Given the description of an element on the screen output the (x, y) to click on. 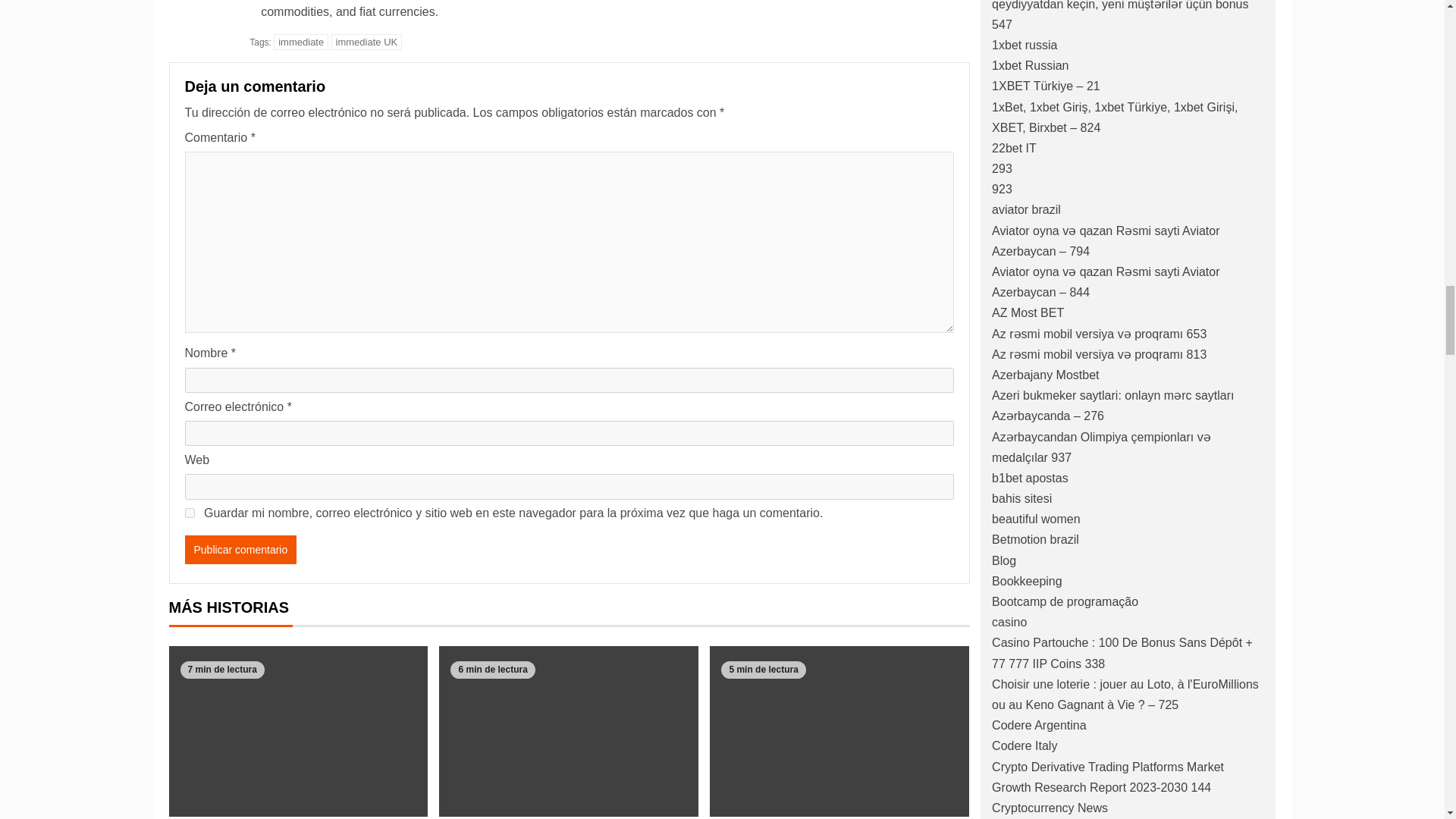
yes (189, 512)
Publicar comentario (240, 549)
Publicar comentario (240, 549)
immediate UK (367, 41)
immediate (301, 41)
